Given the description of an element on the screen output the (x, y) to click on. 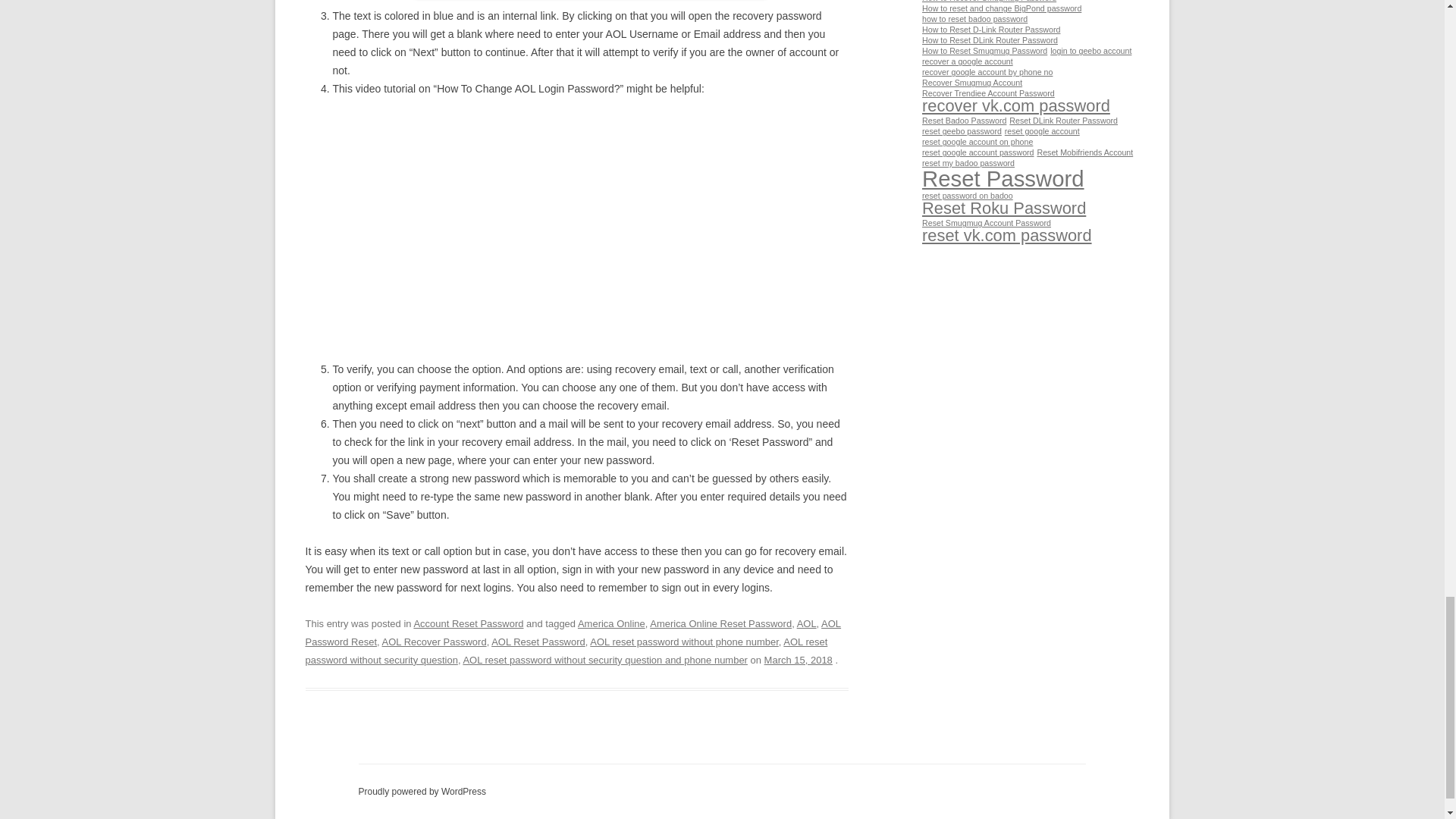
AOL reset password without phone number (683, 641)
AOL (806, 623)
America Online (611, 623)
America Online Reset Password (720, 623)
AOL Recover Password (433, 641)
AOL Reset Password (538, 641)
March 15, 2018 (798, 659)
AOL Password Reset (572, 632)
5:47 am (798, 659)
